Given the description of an element on the screen output the (x, y) to click on. 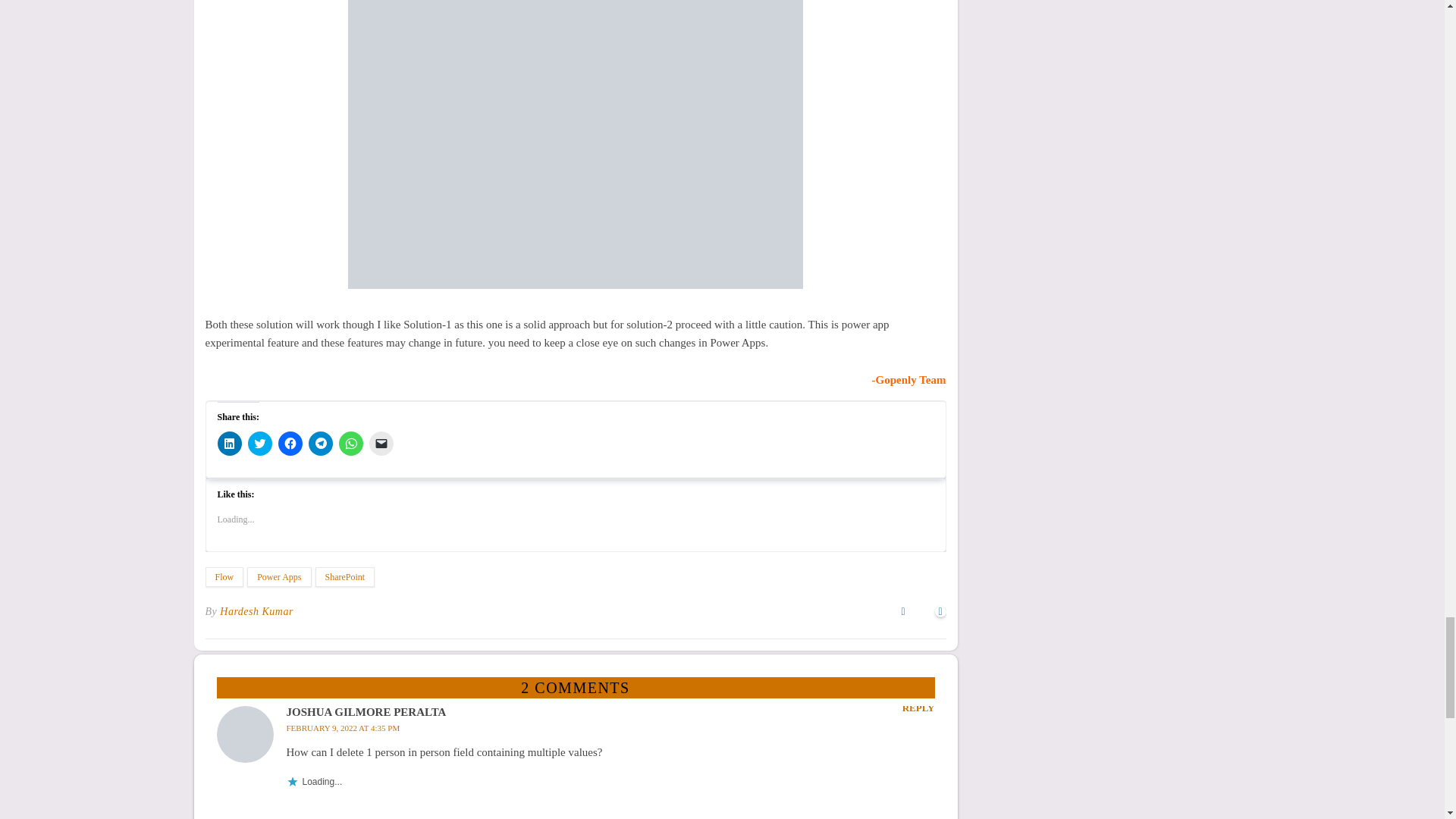
Click to share on Facebook (289, 443)
Click to email a link to a friend (380, 443)
Hardesh Kumar (256, 611)
Power Apps (279, 577)
Click to share on LinkedIn (228, 443)
Click to share on WhatsApp (349, 443)
Click to share on Telegram (319, 443)
Click to share on Twitter (258, 443)
Flow (224, 577)
SharePoint (345, 577)
